Given the description of an element on the screen output the (x, y) to click on. 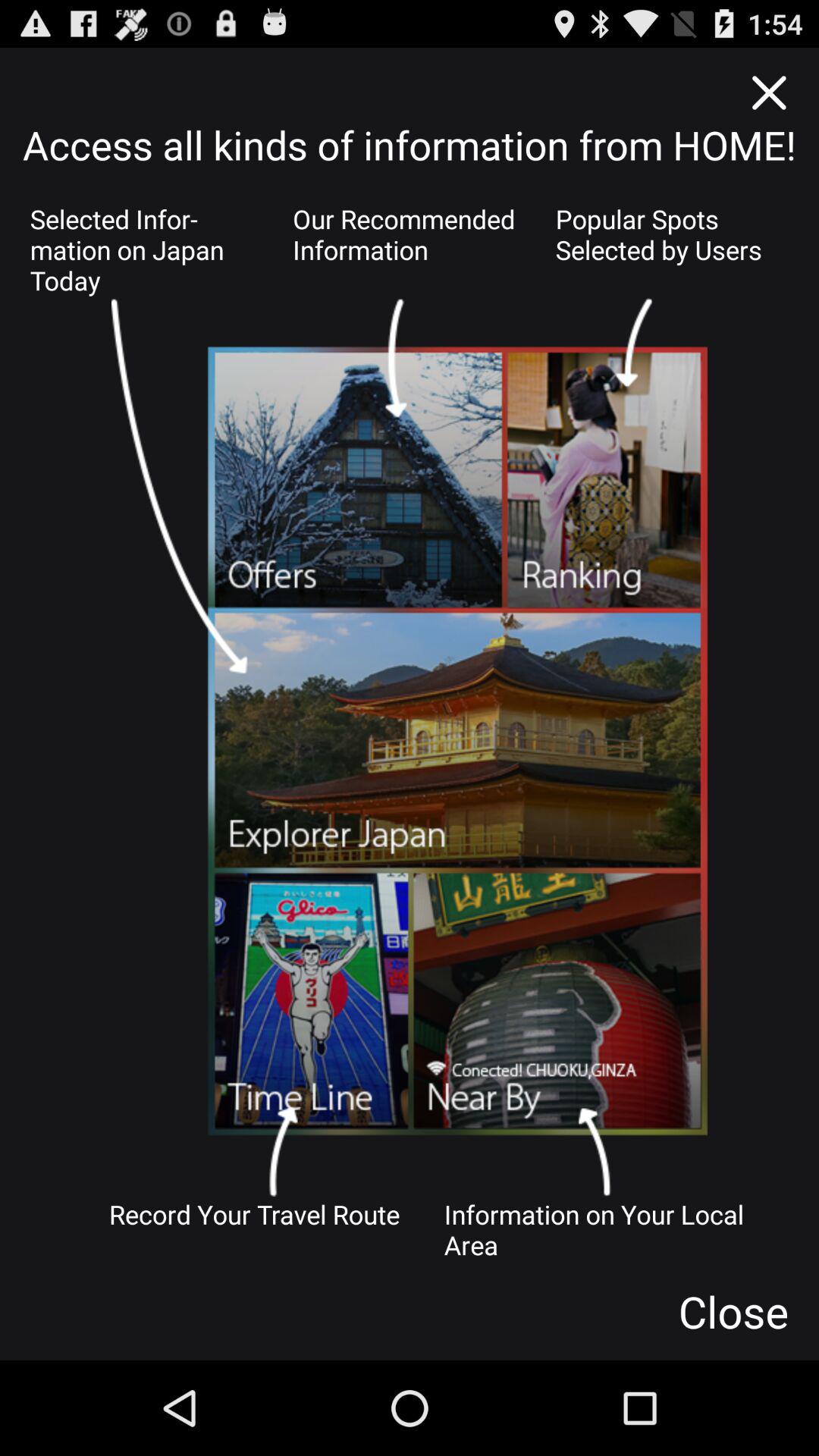
jump until the close button (733, 1311)
